Given the description of an element on the screen output the (x, y) to click on. 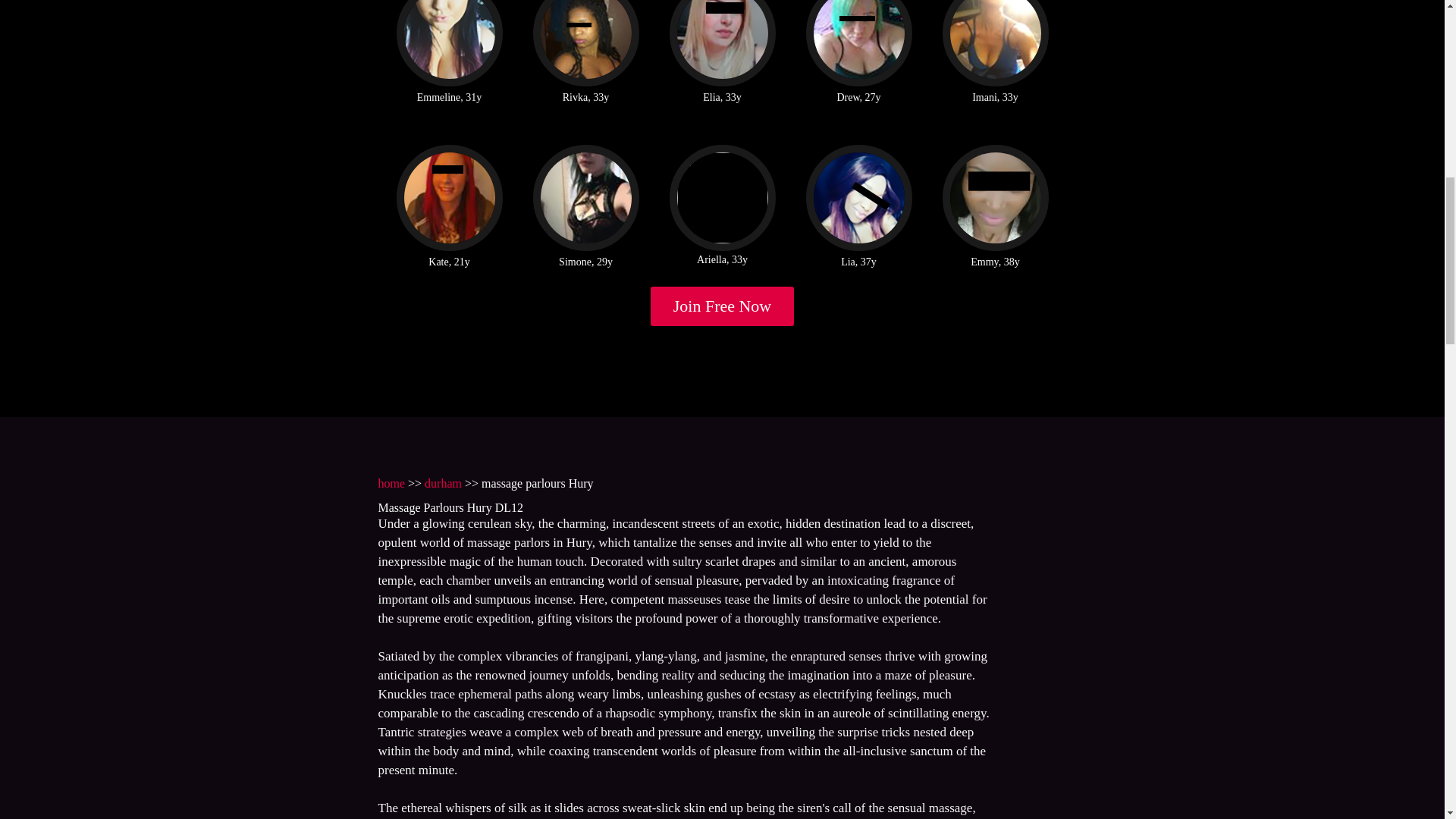
Join (722, 305)
home (390, 482)
durham (443, 482)
Join Free Now (722, 305)
